Given the description of an element on the screen output the (x, y) to click on. 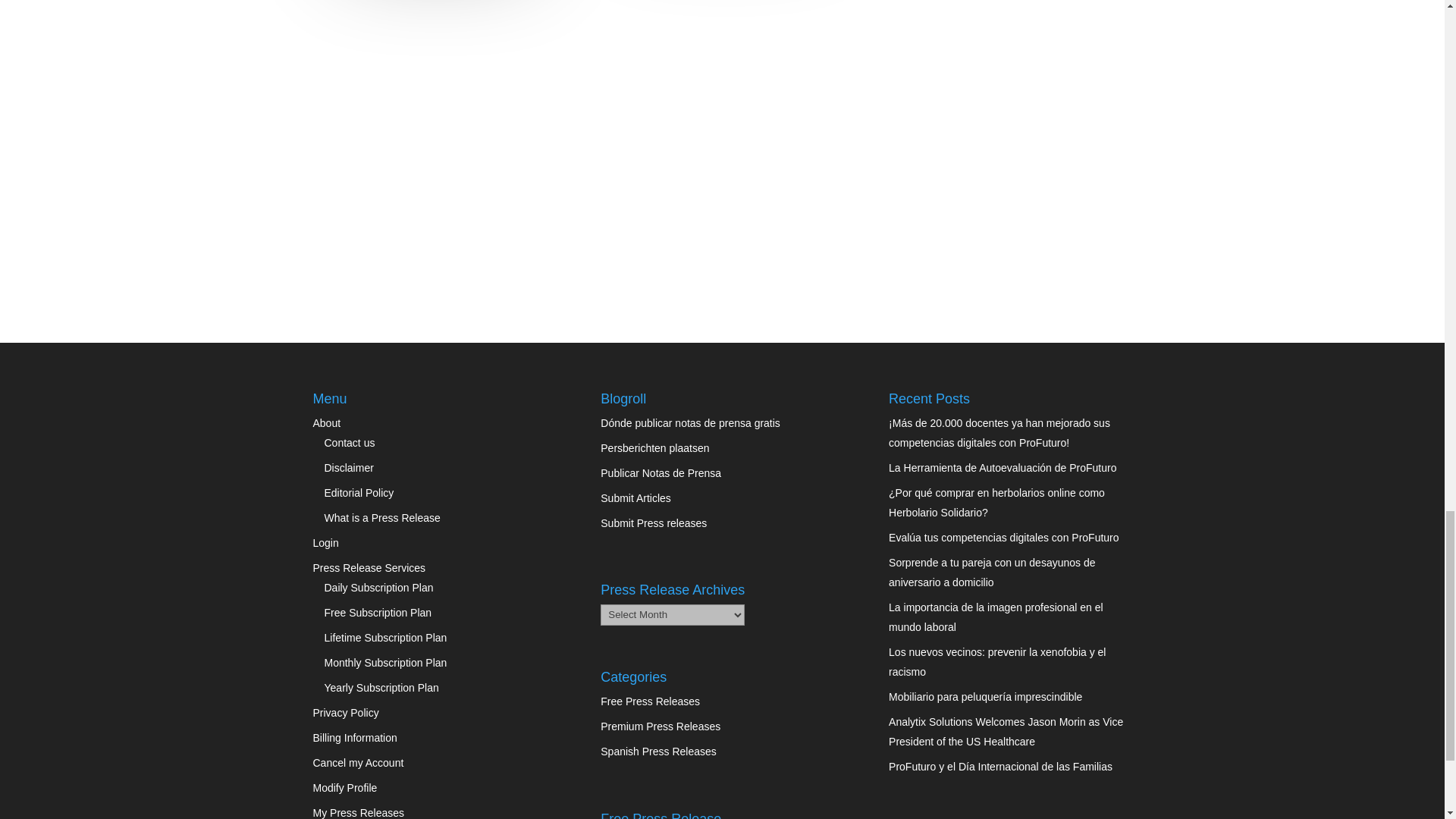
Cancel my Account (358, 762)
Login (325, 542)
Lifetime Subscription Plan (385, 637)
Persberichten plaatsen (654, 448)
Editorial Policy (359, 492)
Billing Information (354, 737)
Monthly Subscription Plan (385, 662)
Daily Subscription Plan (378, 587)
Submit Press releases (652, 522)
Contact us (349, 442)
Yearly Subscription Plan (381, 687)
Press Release Services (369, 567)
Privacy Policy (345, 712)
Submit Articles (635, 498)
About (326, 422)
